Given the description of an element on the screen output the (x, y) to click on. 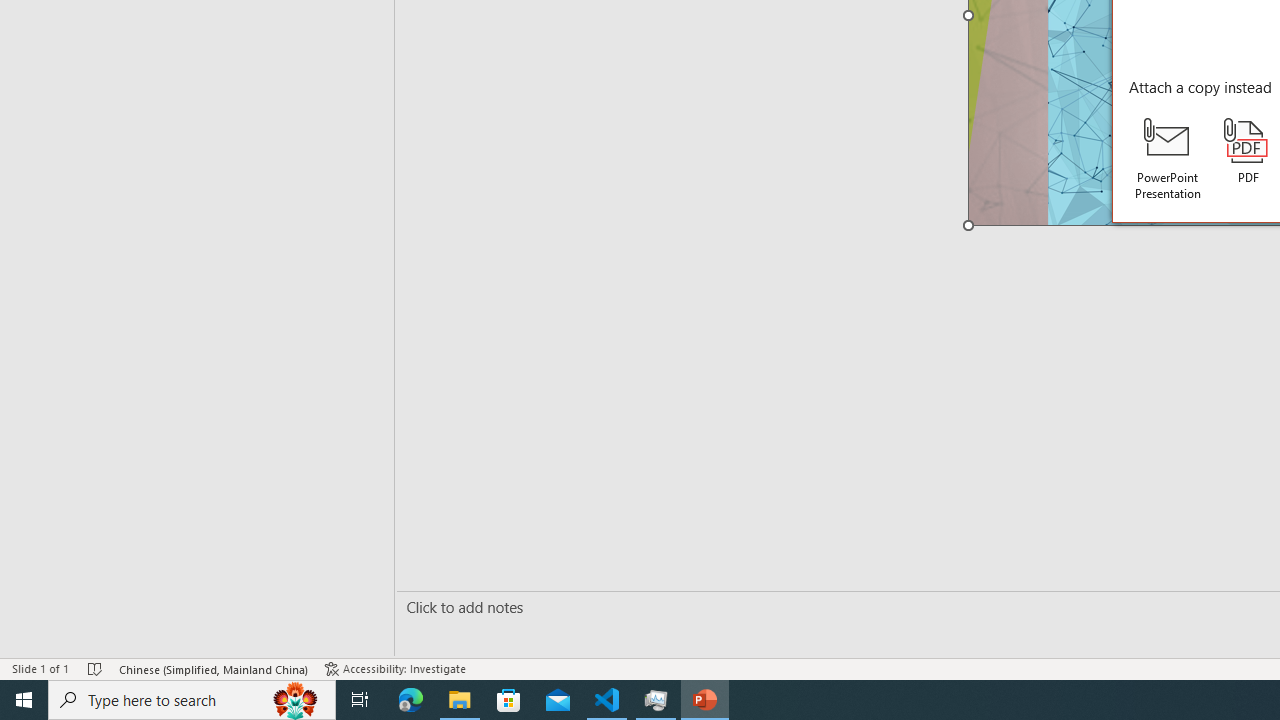
File Explorer - 1 running window (460, 699)
Task Manager - 1 running window (656, 699)
PDF (1247, 151)
PowerPoint Presentation (1167, 159)
Microsoft Edge (411, 699)
